Given the description of an element on the screen output the (x, y) to click on. 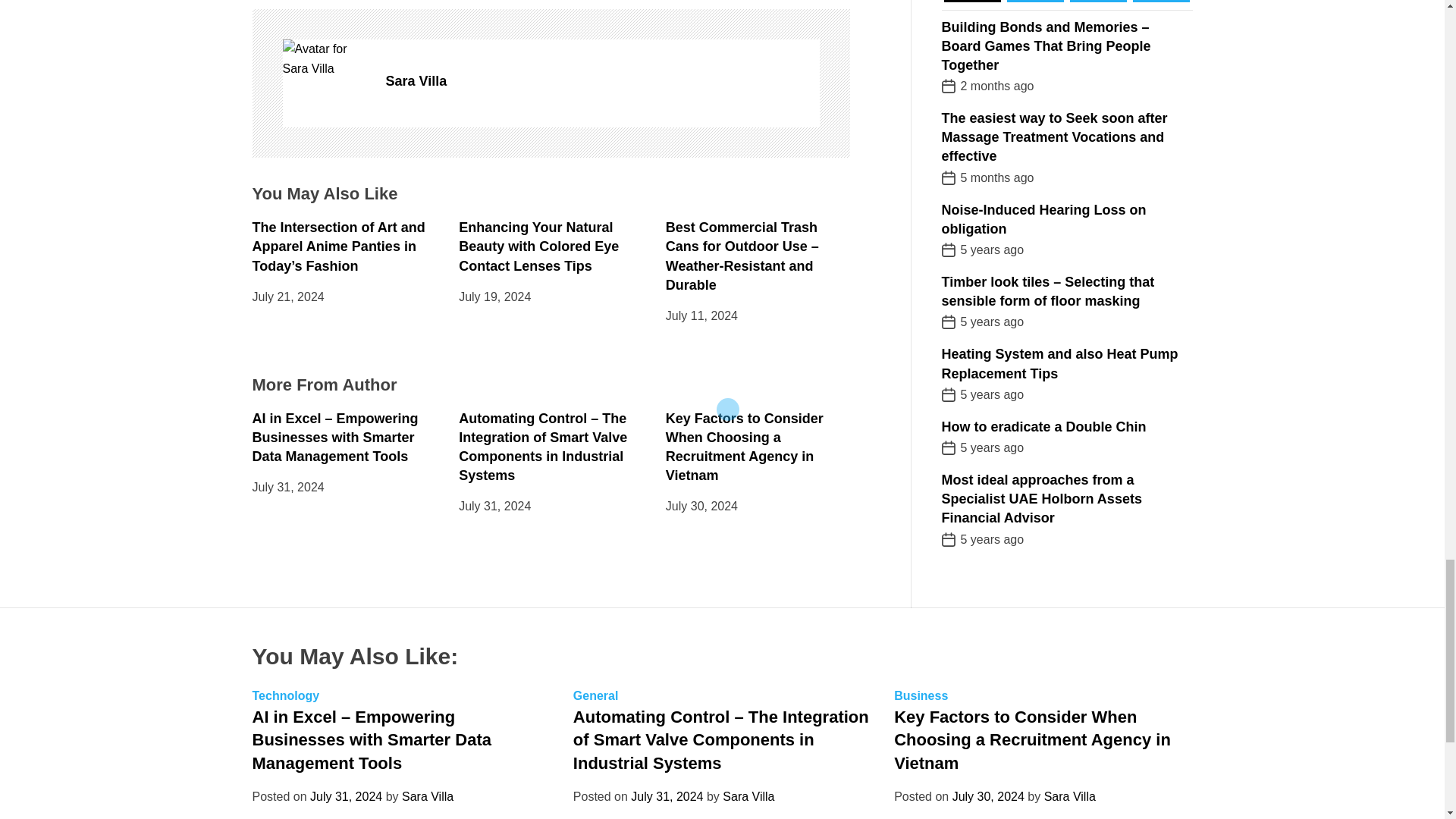
Sara Villa (601, 81)
Sara Villa (325, 58)
Sara Villa (601, 81)
